Given the description of an element on the screen output the (x, y) to click on. 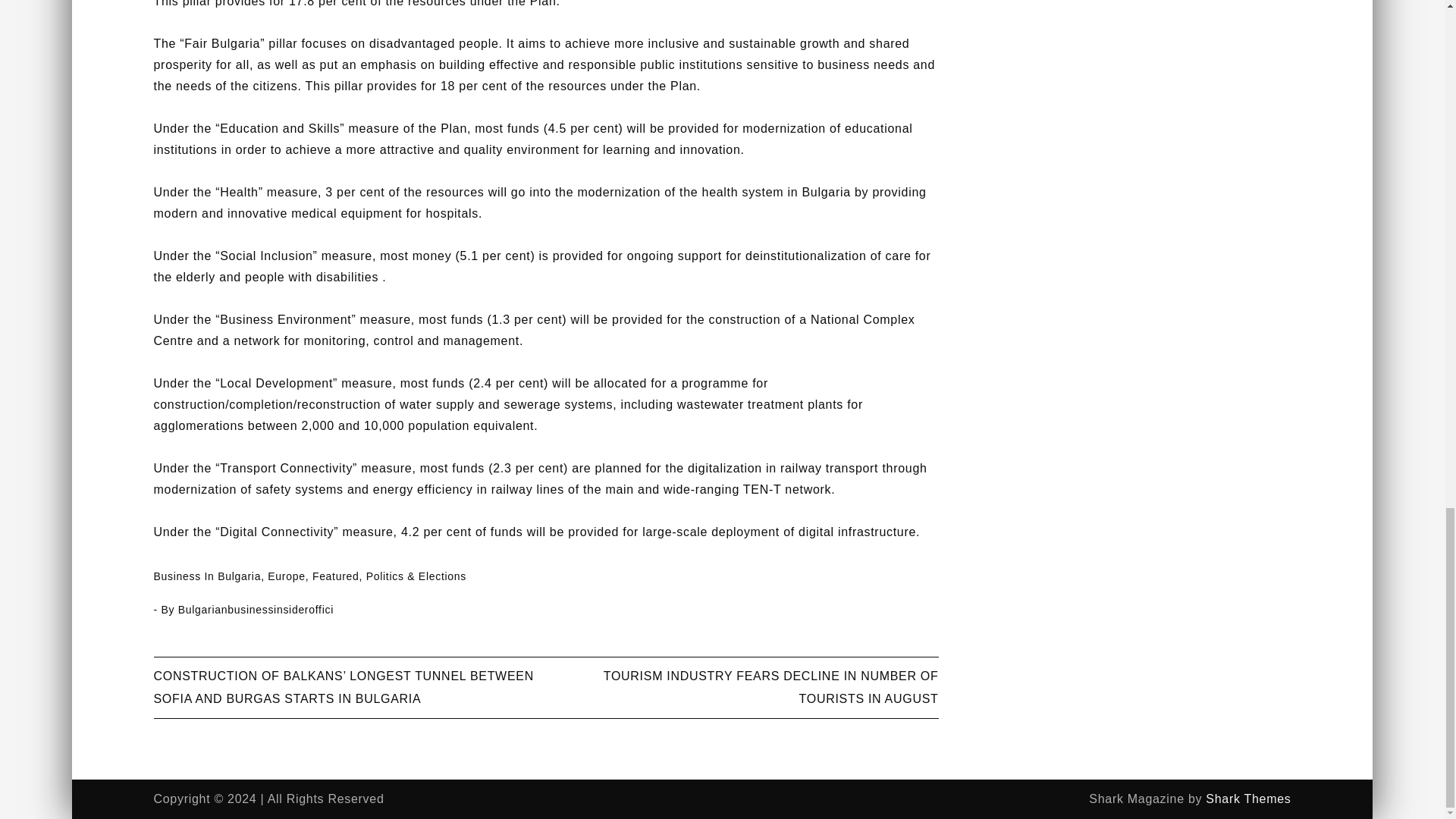
Shark Themes (1247, 798)
Business In Bulgaria (206, 576)
Featured (336, 576)
Bulgarianbusinessinsideroffici (255, 609)
Europe (285, 576)
